Given the description of an element on the screen output the (x, y) to click on. 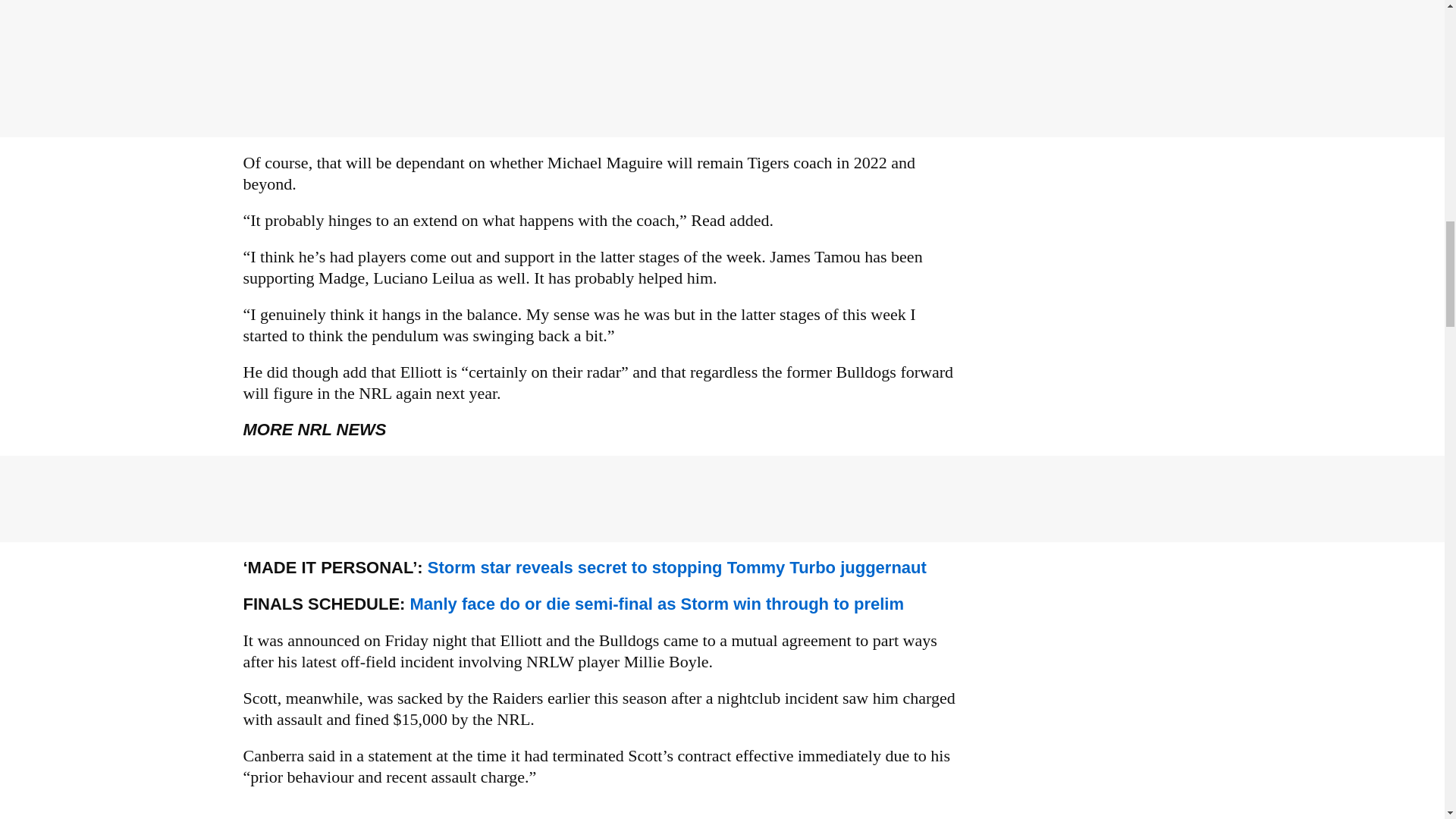
Storm star reveals secret to stopping Tommy Turbo juggernaut (677, 567)
Minutely (599, 811)
